Given the description of an element on the screen output the (x, y) to click on. 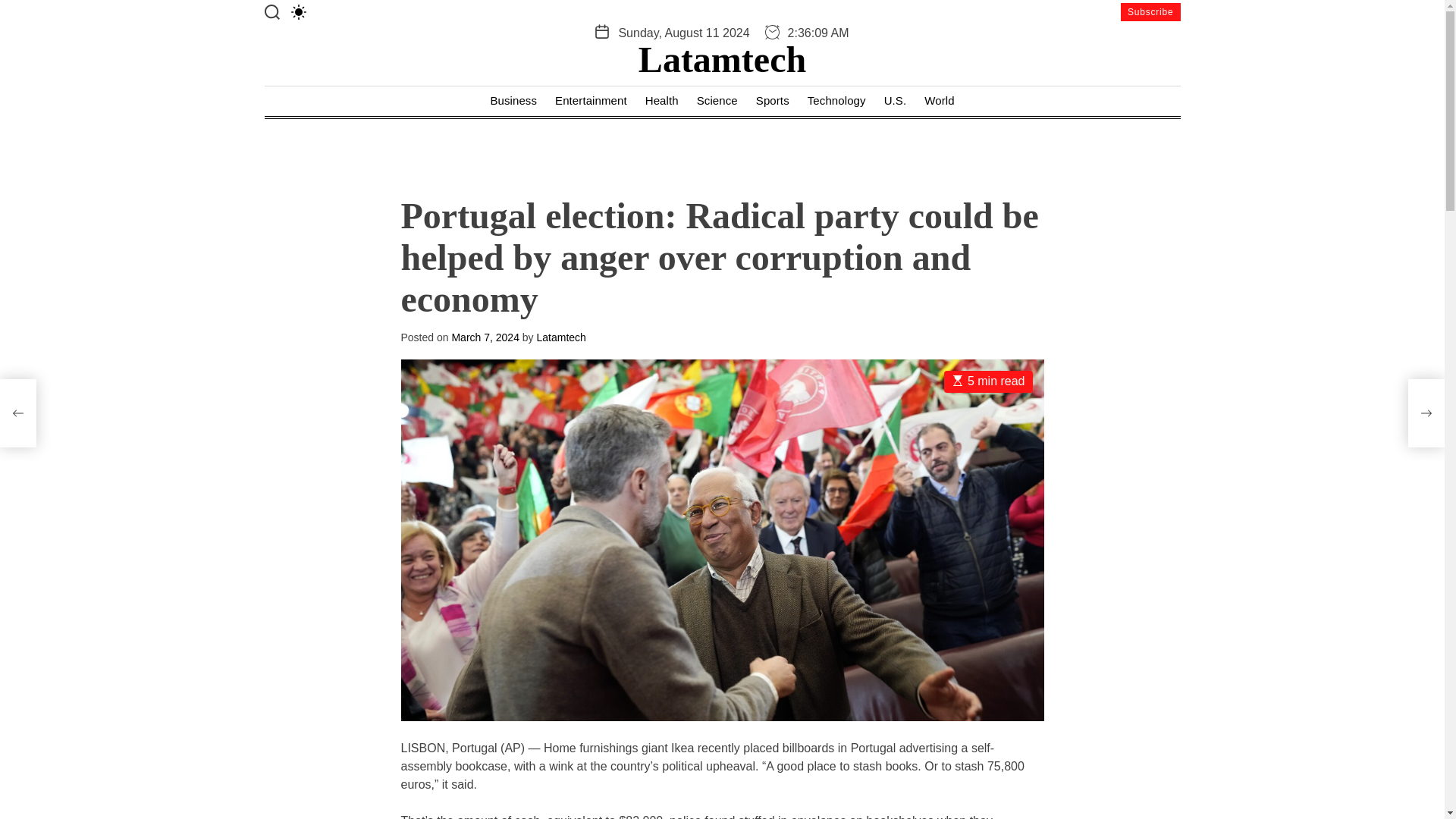
Sports (772, 101)
March 7, 2024 (485, 337)
Switch color mode (298, 11)
Search (271, 11)
Science (717, 101)
Technology (837, 101)
World (938, 101)
Latamtech (561, 337)
Business (513, 101)
Latamtech (722, 59)
